Given the description of an element on the screen output the (x, y) to click on. 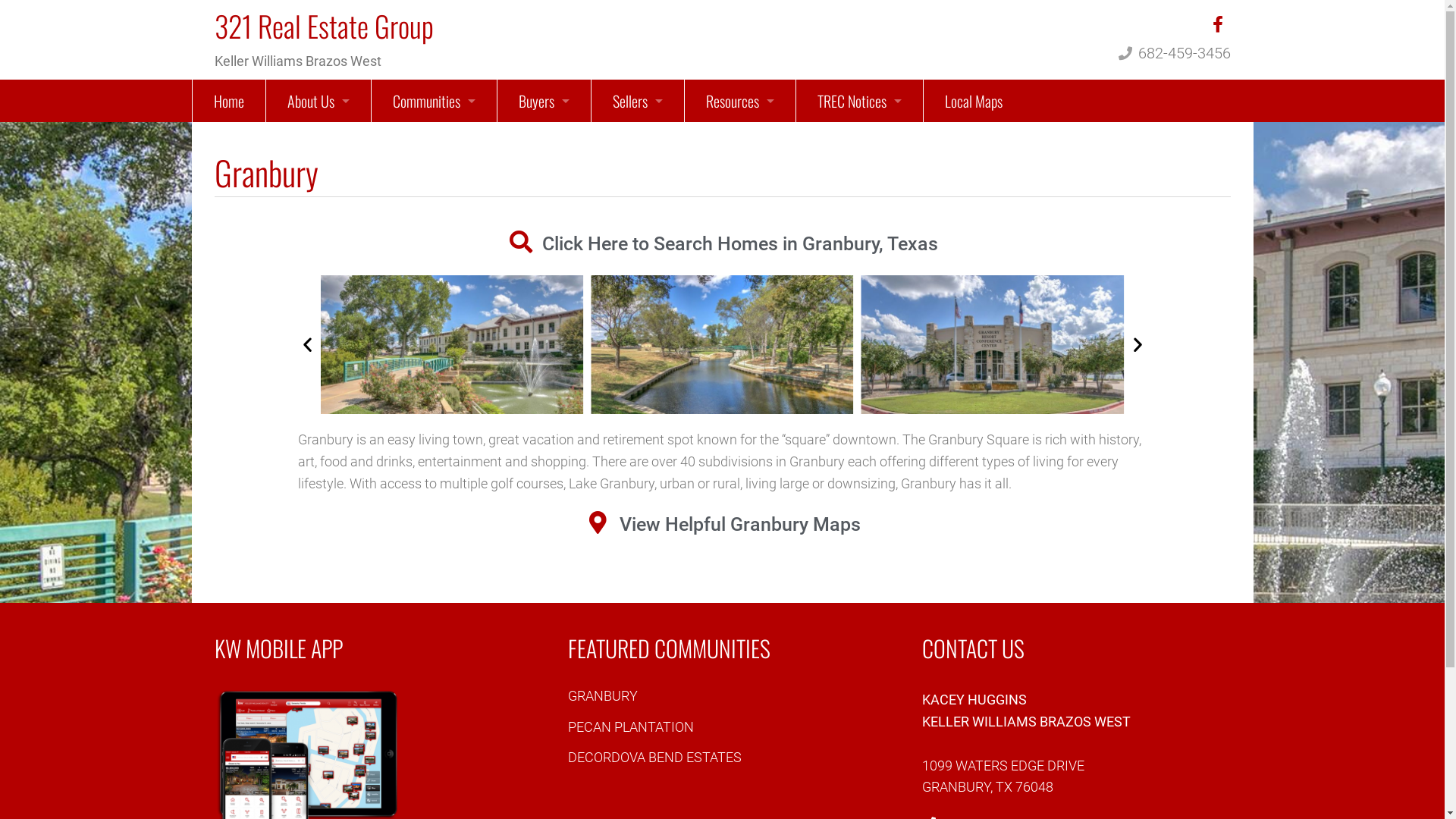
About Us Element type: text (317, 100)
Home Element type: text (228, 100)
DeCordova Bend Estates Element type: text (433, 185)
Local Maps Element type: text (973, 100)
GRANBURY Element type: text (602, 695)
PECAN PLANTATION Element type: text (630, 726)
Resources Element type: text (739, 100)
View Helpful Granbury Maps Element type: text (722, 524)
This Month in Real Estate Element type: text (317, 312)
KW Mobile App Element type: text (317, 228)
Granbury Element type: text (433, 143)
8 Steps to Buying a Home Element type: text (543, 185)
Testimonials Element type: text (317, 185)
How to Sell and Make a Profit Element type: text (637, 185)
Name Your Price Element type: text (739, 185)
Sellers Element type: text (637, 100)
682-459-3456 Element type: text (1183, 52)
Blog Element type: text (317, 143)
Pecan Plantation Element type: text (433, 228)
DECORDOVA BEND ESTATES Element type: text (654, 757)
Leave a Review Element type: text (317, 270)
Buyers Element type: text (543, 100)
8 Steps to Selling a Home Element type: text (637, 143)
Communities Element type: text (433, 100)
Smart Home Worth Element type: text (739, 228)
Click Here to Search Homes in Granbury, Texas Element type: text (722, 244)
Monthly Trends Report Element type: text (739, 270)
TREC Notices Element type: text (859, 100)
7 Seller Tips Element type: text (739, 143)
Home Buying Tips Element type: text (543, 143)
321 Real Estate Group Element type: text (323, 25)
